Given the description of an element on the screen output the (x, y) to click on. 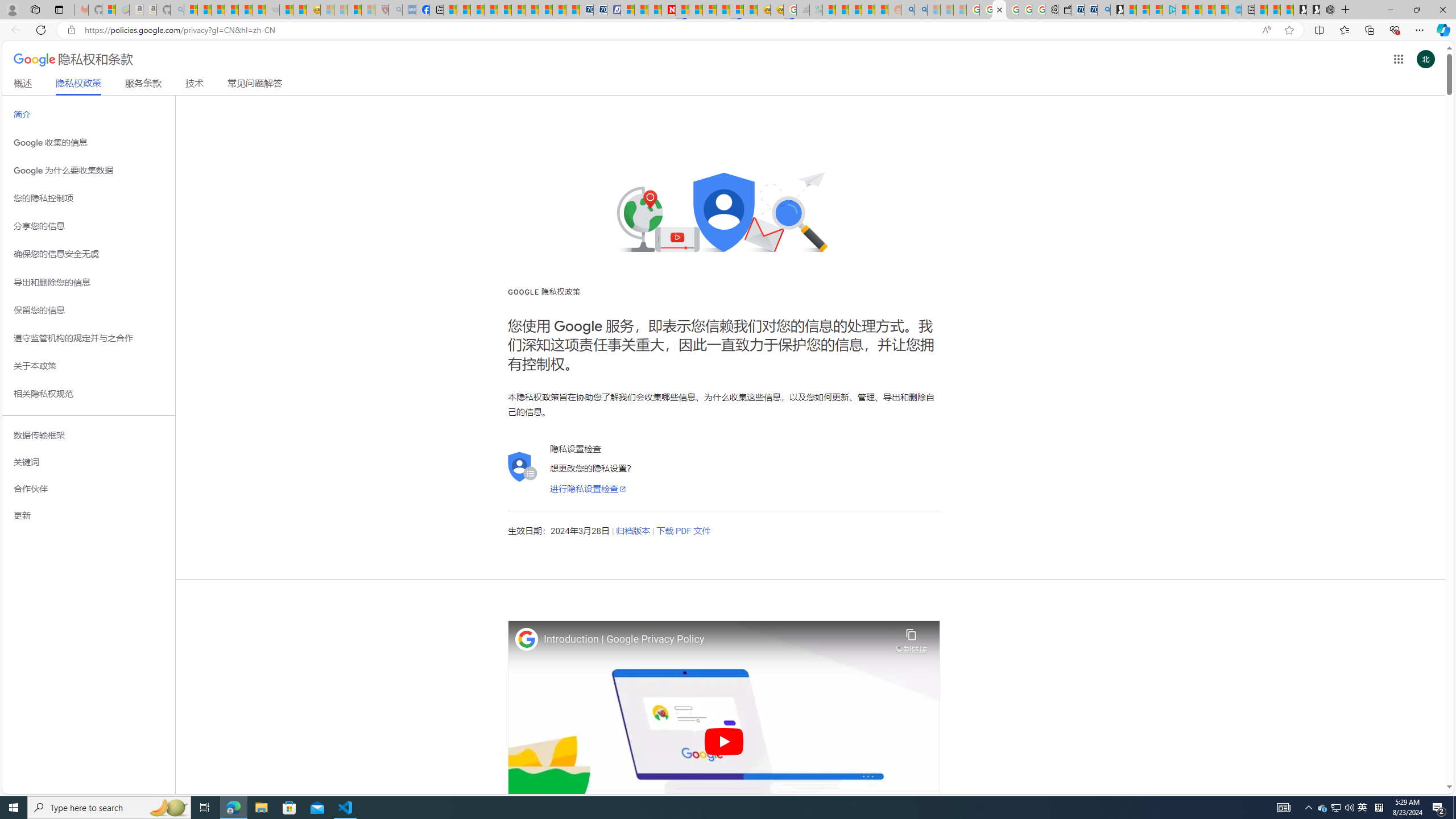
Class: gb_E (1398, 59)
